Given the description of an element on the screen output the (x, y) to click on. 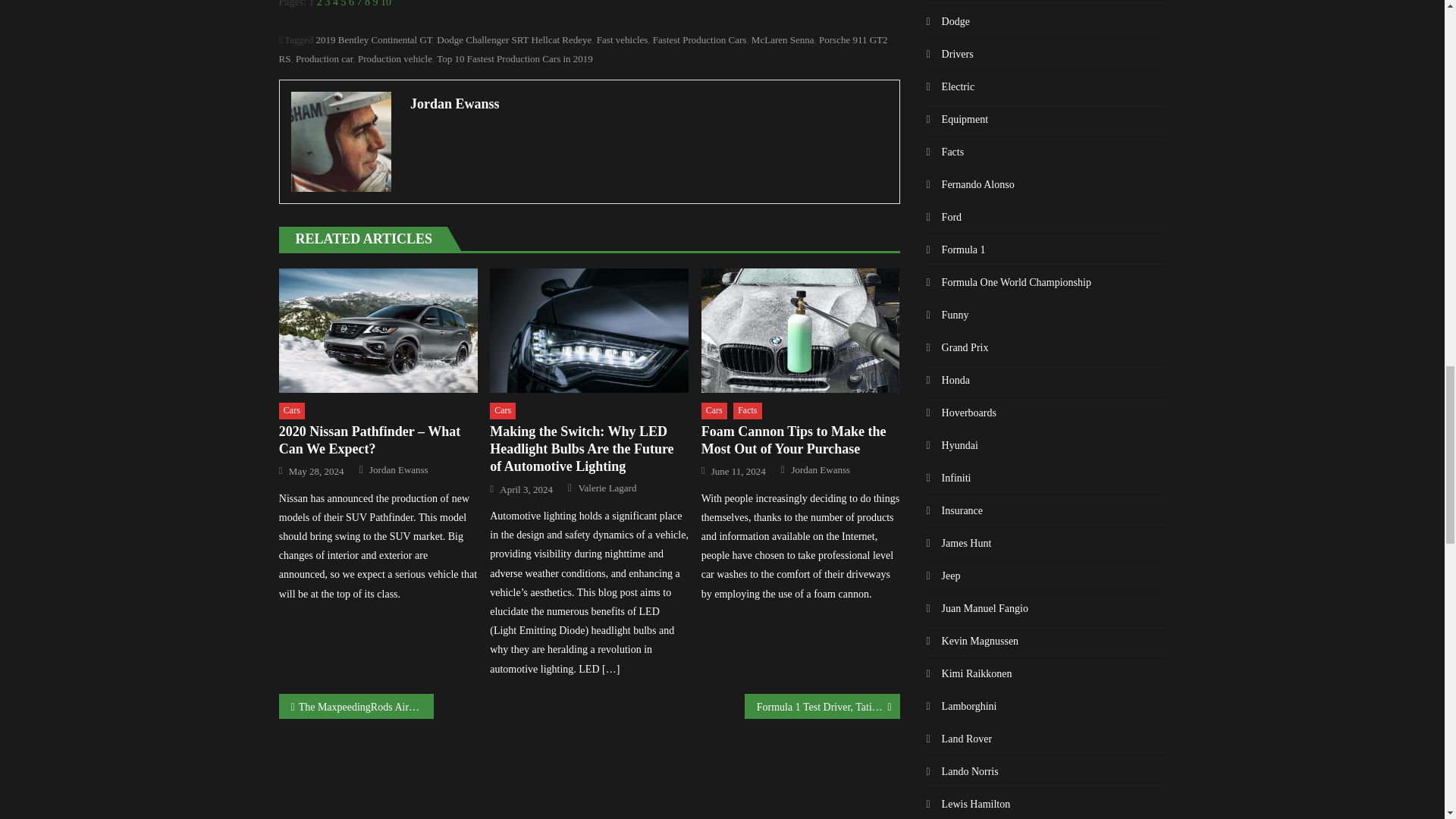
2019 Bentley Continental GT (373, 39)
Dodge Challenger SRT Hellcat Redeye (513, 39)
Foam Cannon Tips to Make the Most Out of Your Purchase (800, 330)
10 (385, 3)
Production car (324, 58)
Porsche 911 GT2 RS (583, 49)
Production vehicle (395, 58)
Fastest Production Cars (699, 39)
Fast vehicles (621, 39)
